Given the description of an element on the screen output the (x, y) to click on. 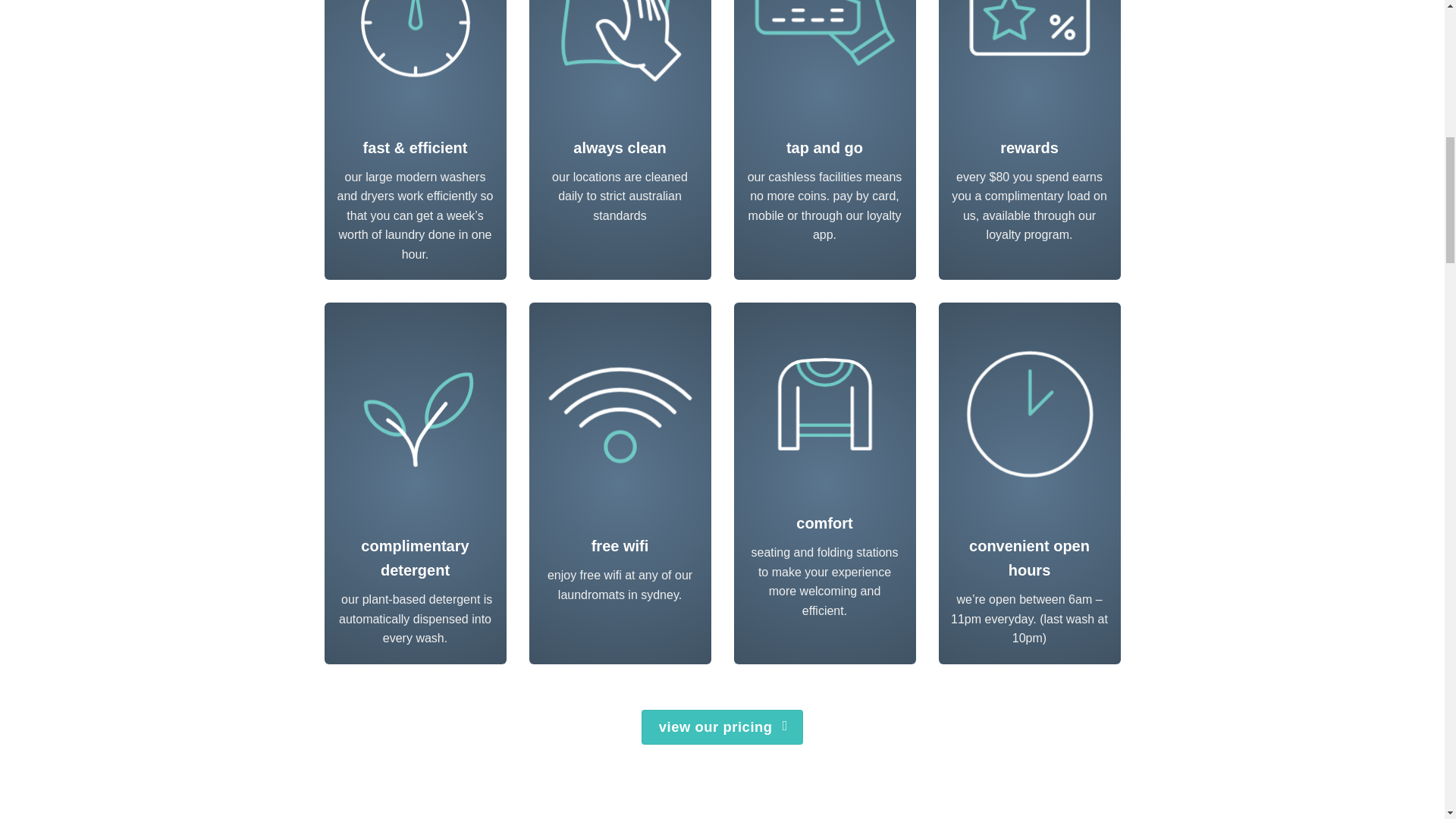
view our pricing (722, 727)
loyalty program (1027, 234)
